Given the description of an element on the screen output the (x, y) to click on. 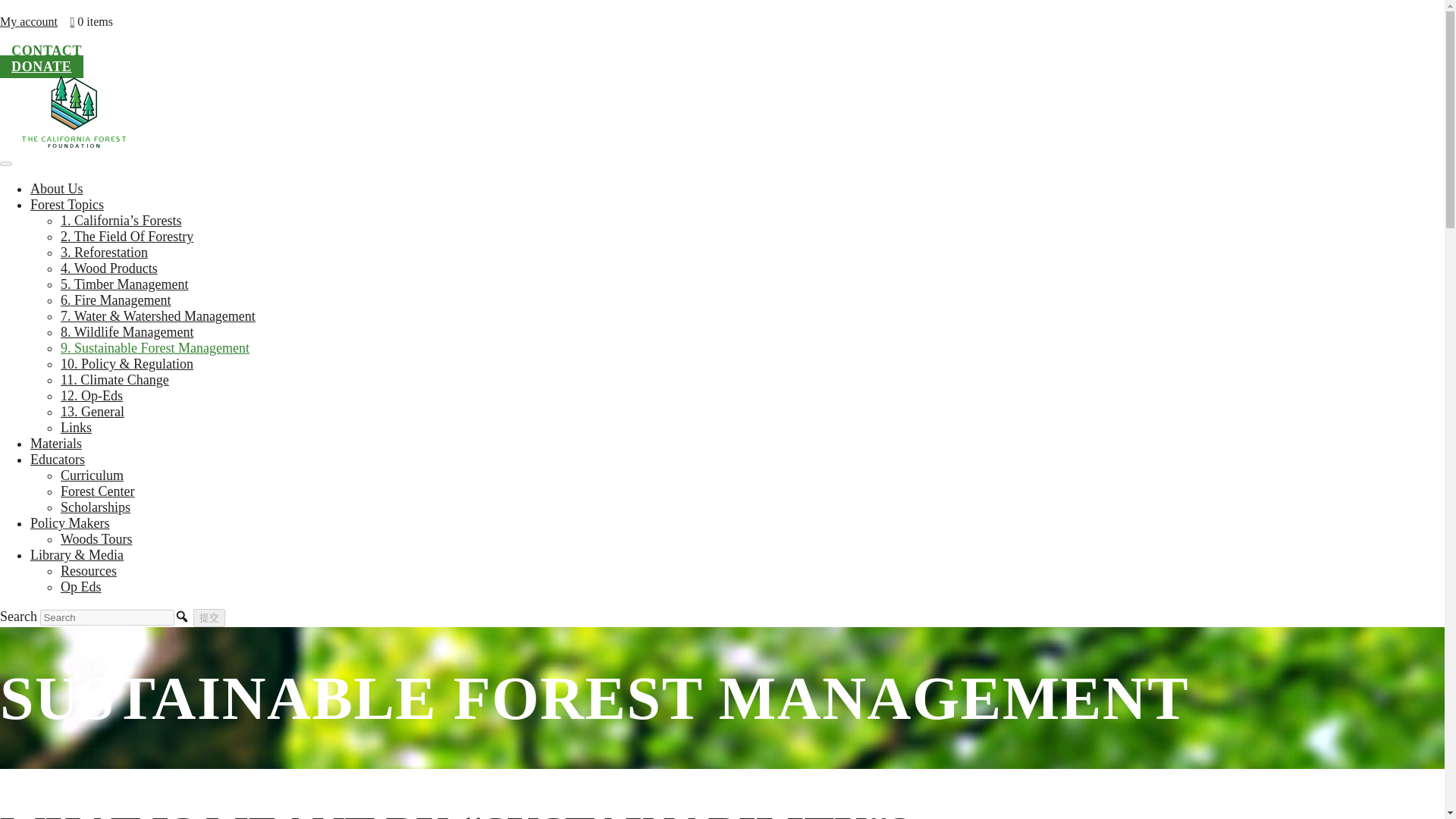
Forest Topics (66, 204)
Forest Center (97, 491)
CONTACT (46, 50)
Policy Makers (69, 522)
Search (107, 617)
Donate (41, 66)
5. Timber Management (125, 283)
12. Op-Eds (91, 395)
Scholarships (96, 507)
Start shopping (91, 21)
